Given the description of an element on the screen output the (x, y) to click on. 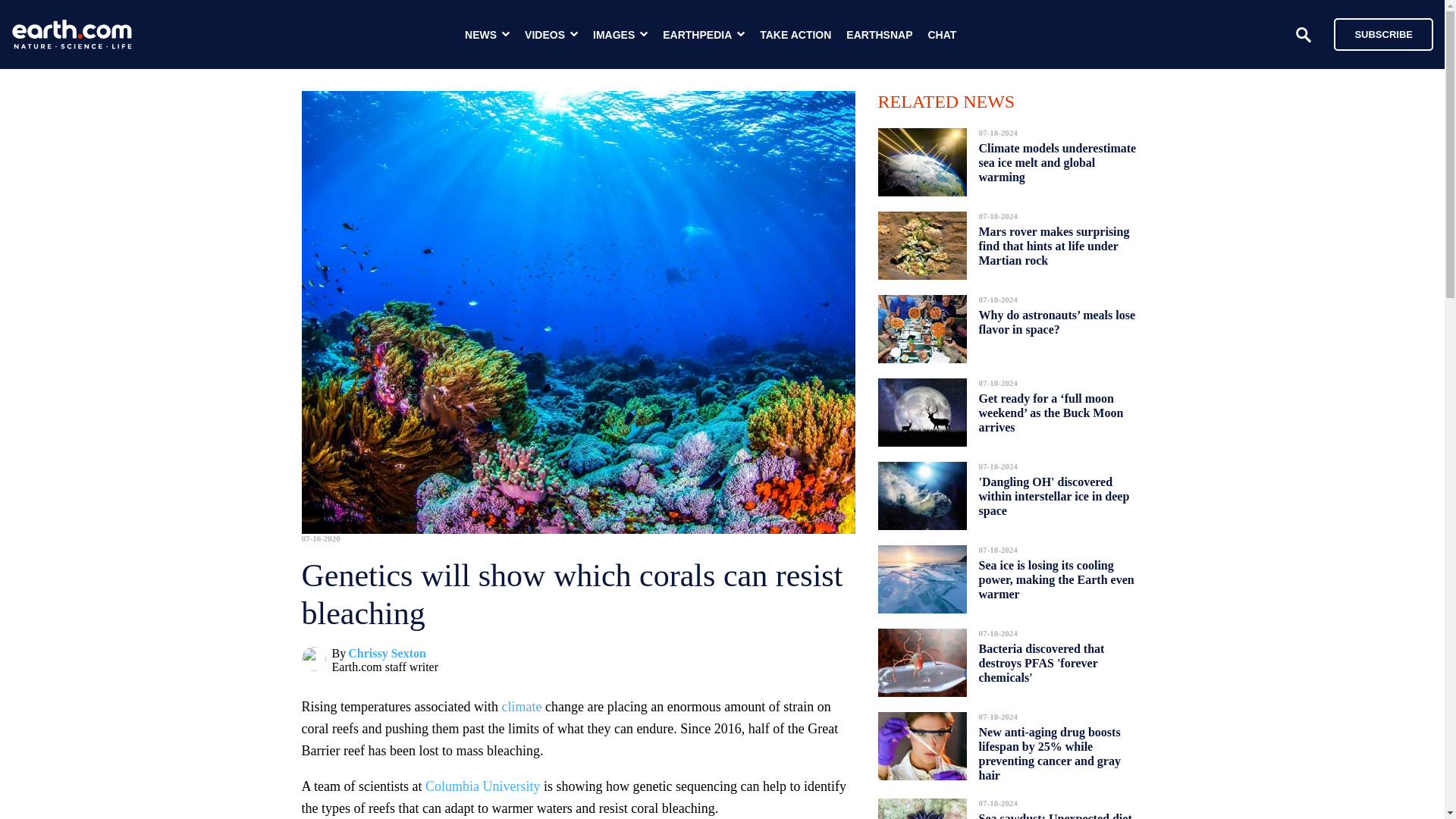
TAKE ACTION (795, 34)
Bacteria discovered that destroys PFAS 'forever chemicals' (1040, 662)
Columbia University (482, 785)
SUBSCRIBE (1375, 33)
climate (520, 706)
Chrissy Sexton (386, 653)
CHAT (941, 34)
EARTHSNAP (878, 34)
SUBSCRIBE (1382, 34)
Sea sawdust: Unexpected diet of crown-of-thorns starfish (1054, 811)
Climate models underestimate sea ice melt and global warming (1056, 162)
